Given the description of an element on the screen output the (x, y) to click on. 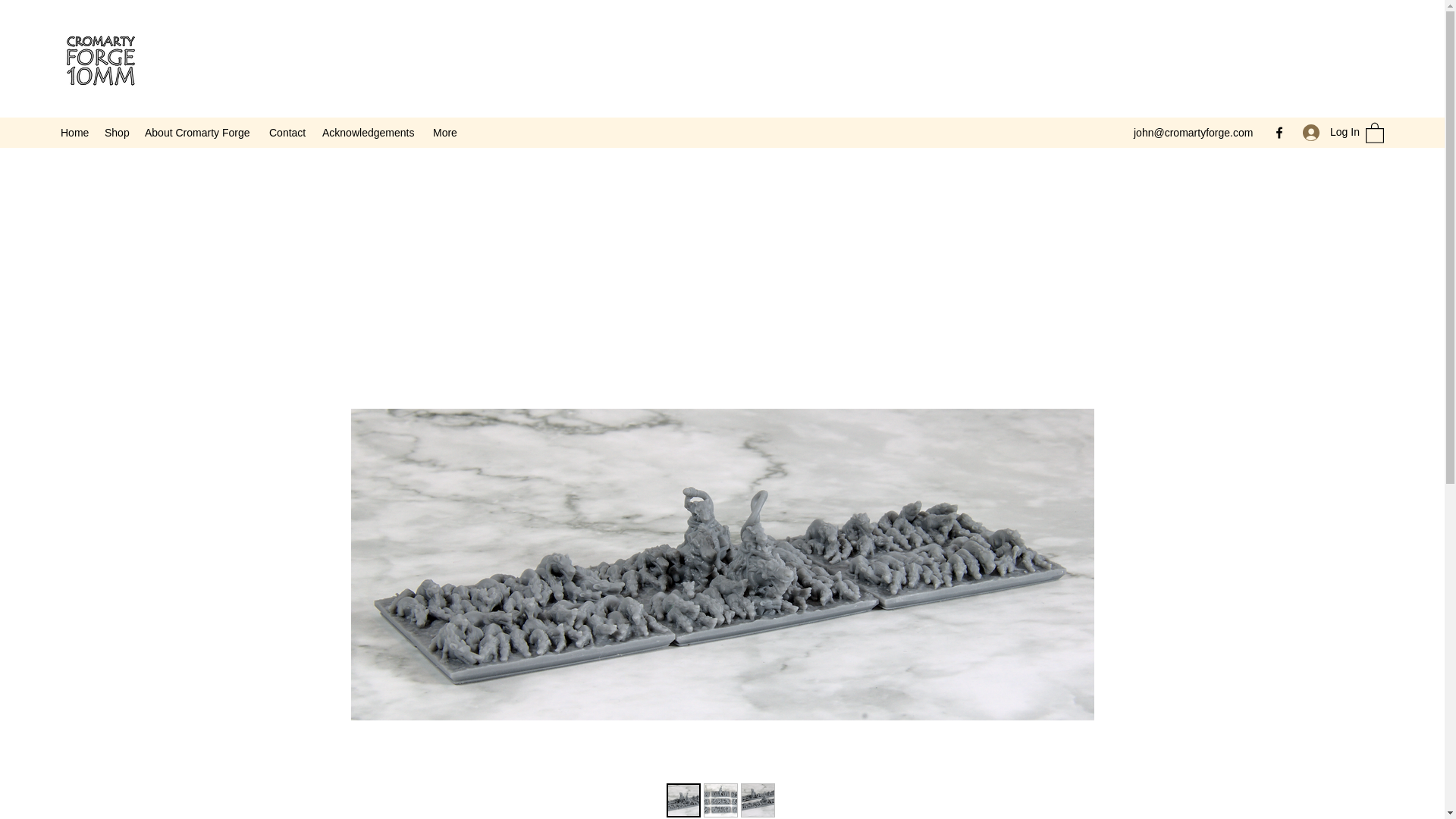
Log In (1325, 131)
Acknowledgements (369, 132)
Contact (288, 132)
Shop (116, 132)
Home (74, 132)
About Cromarty Forge (199, 132)
